Given the description of an element on the screen output the (x, y) to click on. 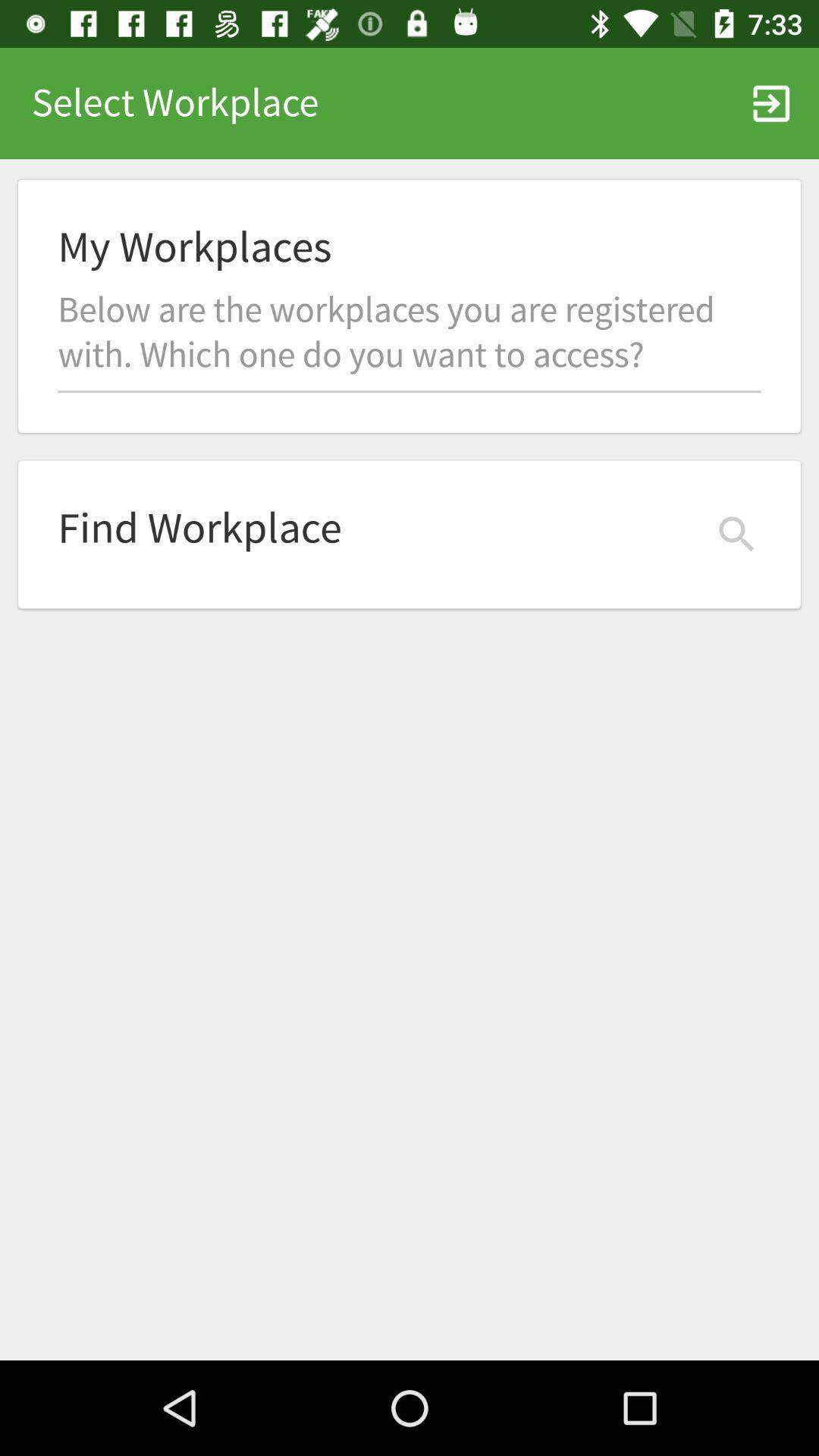
turn on icon next to select workplace icon (771, 103)
